Given the description of an element on the screen output the (x, y) to click on. 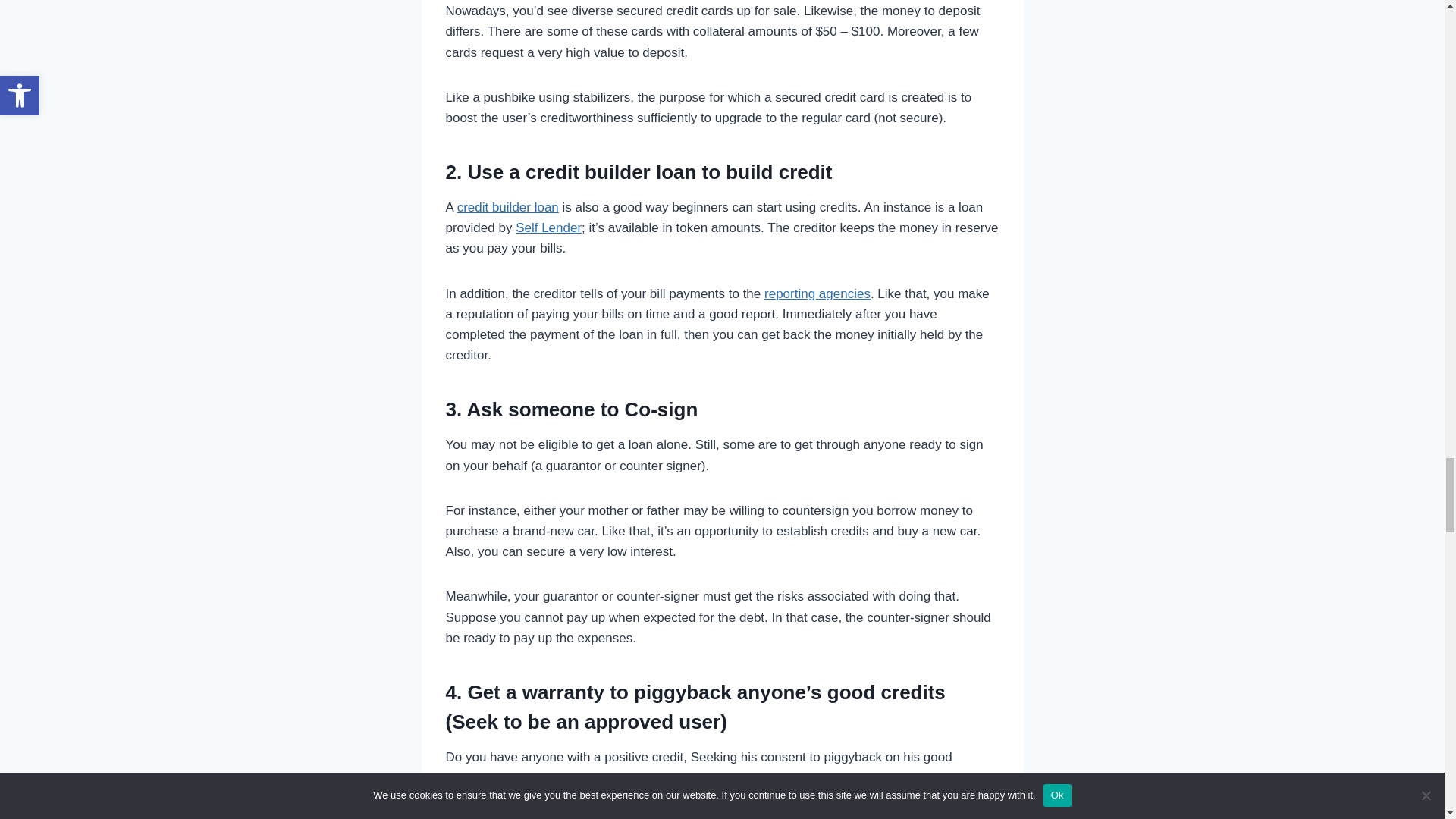
reporting agencies (817, 293)
Self Lender (547, 227)
credit builder loan (508, 206)
